Given the description of an element on the screen output the (x, y) to click on. 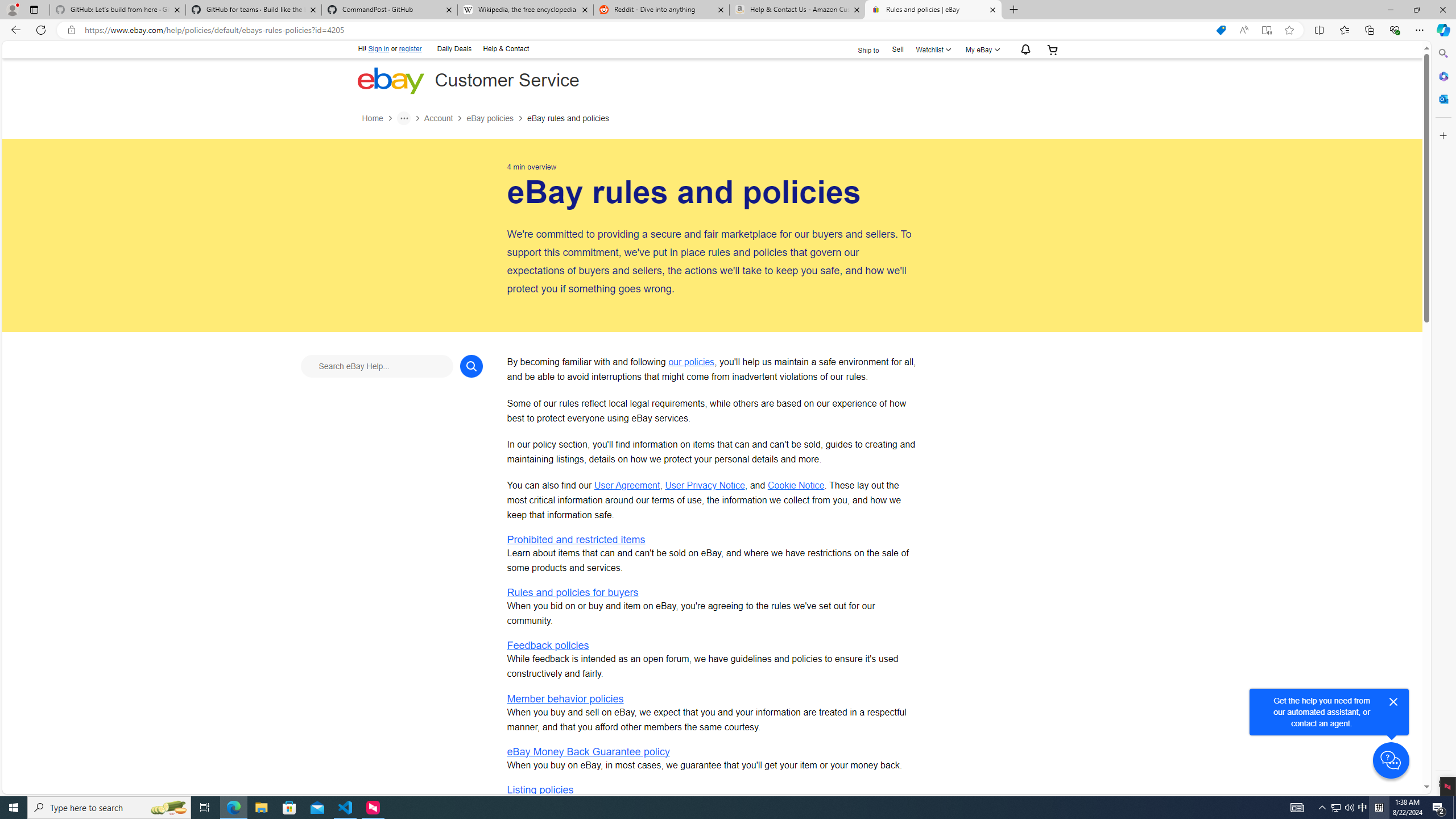
Prohibited and restricted items (575, 539)
Daily Deals (453, 48)
eBay policies (489, 117)
Ship to (860, 50)
